Given the description of an element on the screen output the (x, y) to click on. 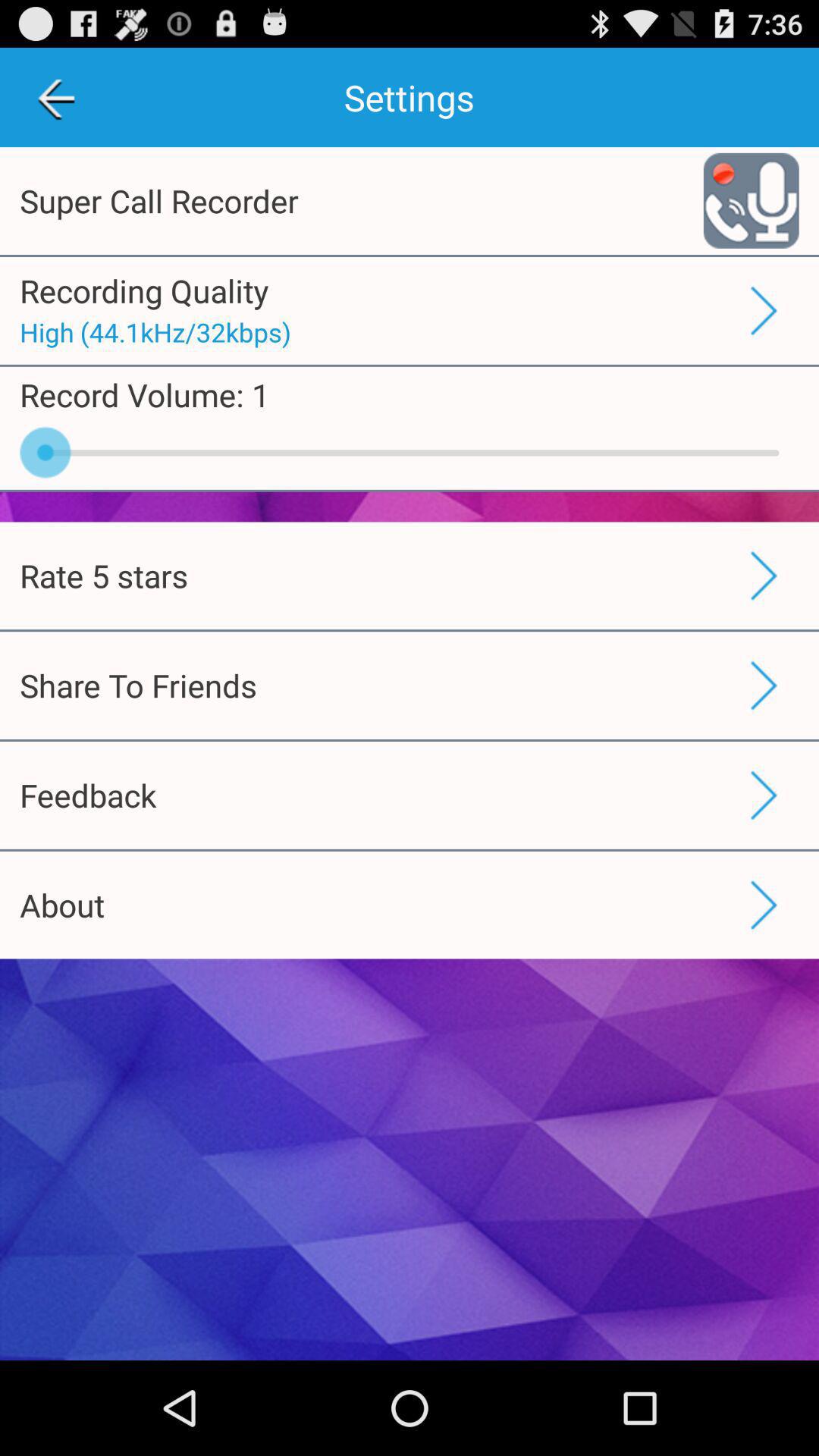
go to previous (55, 97)
